Given the description of an element on the screen output the (x, y) to click on. 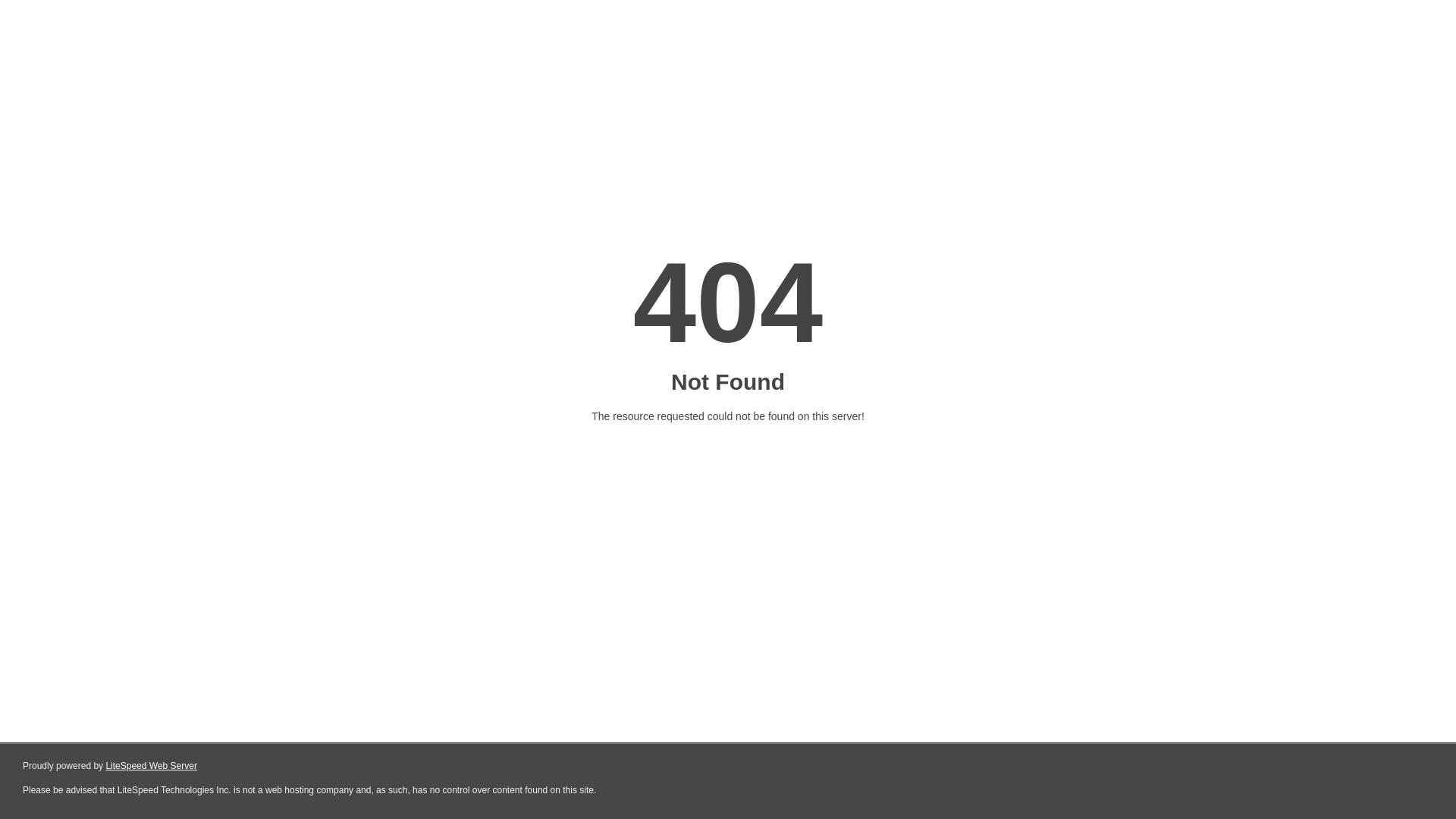
LiteSpeed Web Server Element type: text (151, 765)
